Given the description of an element on the screen output the (x, y) to click on. 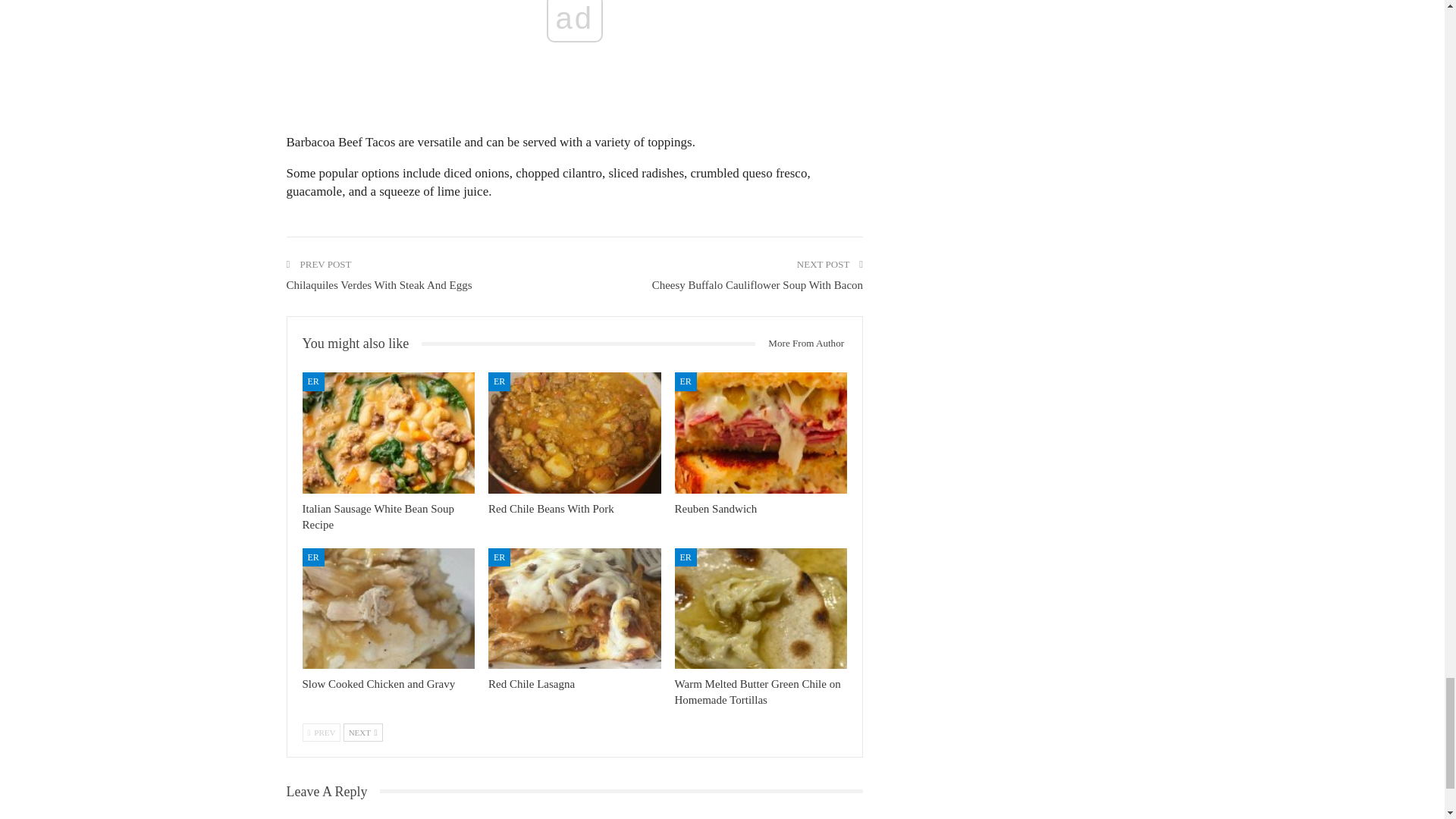
Reuben Sandwich (716, 508)
You might also like (361, 343)
ER (312, 381)
More From Author (801, 343)
Warm Melted Butter Green Chile on Homemade Tortillas (758, 691)
Red Chile Beans With Pork (550, 508)
Slow Cooked Chicken and Gravy (387, 608)
Red Chile Beans With Pork (574, 432)
Red Chile Lasagna (531, 684)
Reuben Sandwich (716, 508)
